Given the description of an element on the screen output the (x, y) to click on. 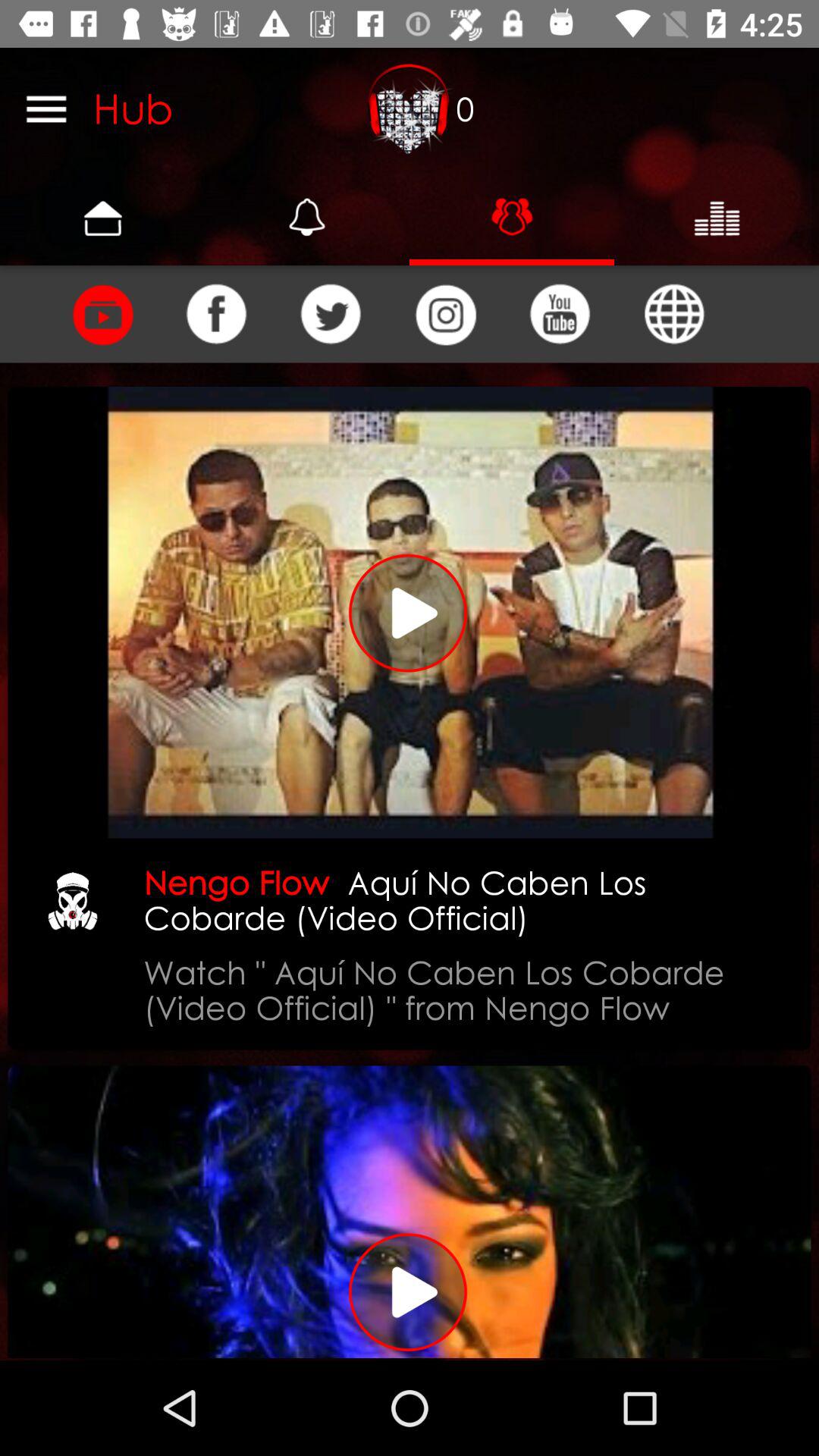
view all (45, 108)
